Given the description of an element on the screen output the (x, y) to click on. 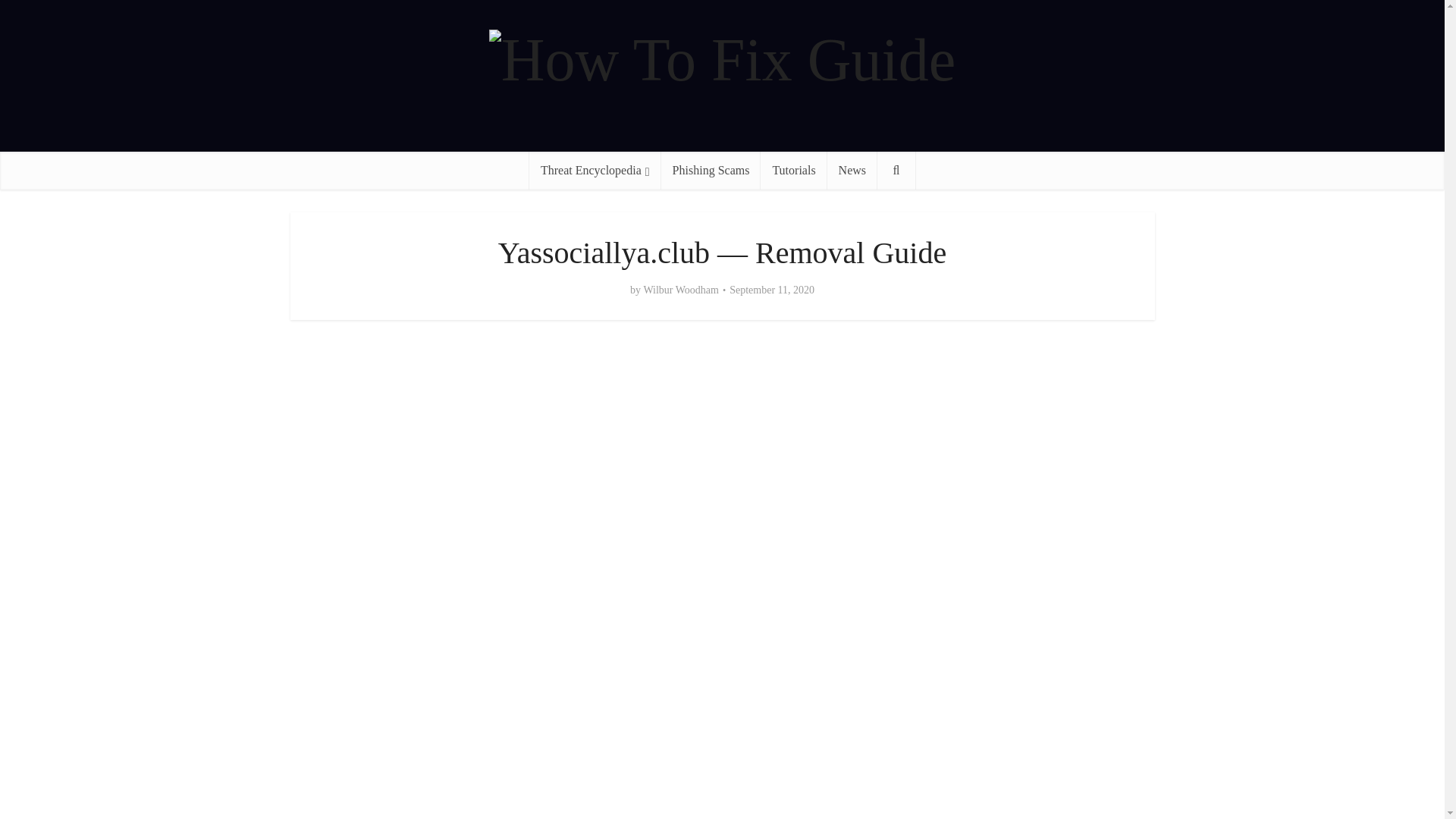
News (852, 170)
Phishing Scams (711, 170)
Tutorials (793, 170)
Threat Encyclopedia (595, 170)
Wilbur Woodham (681, 290)
